Given the description of an element on the screen output the (x, y) to click on. 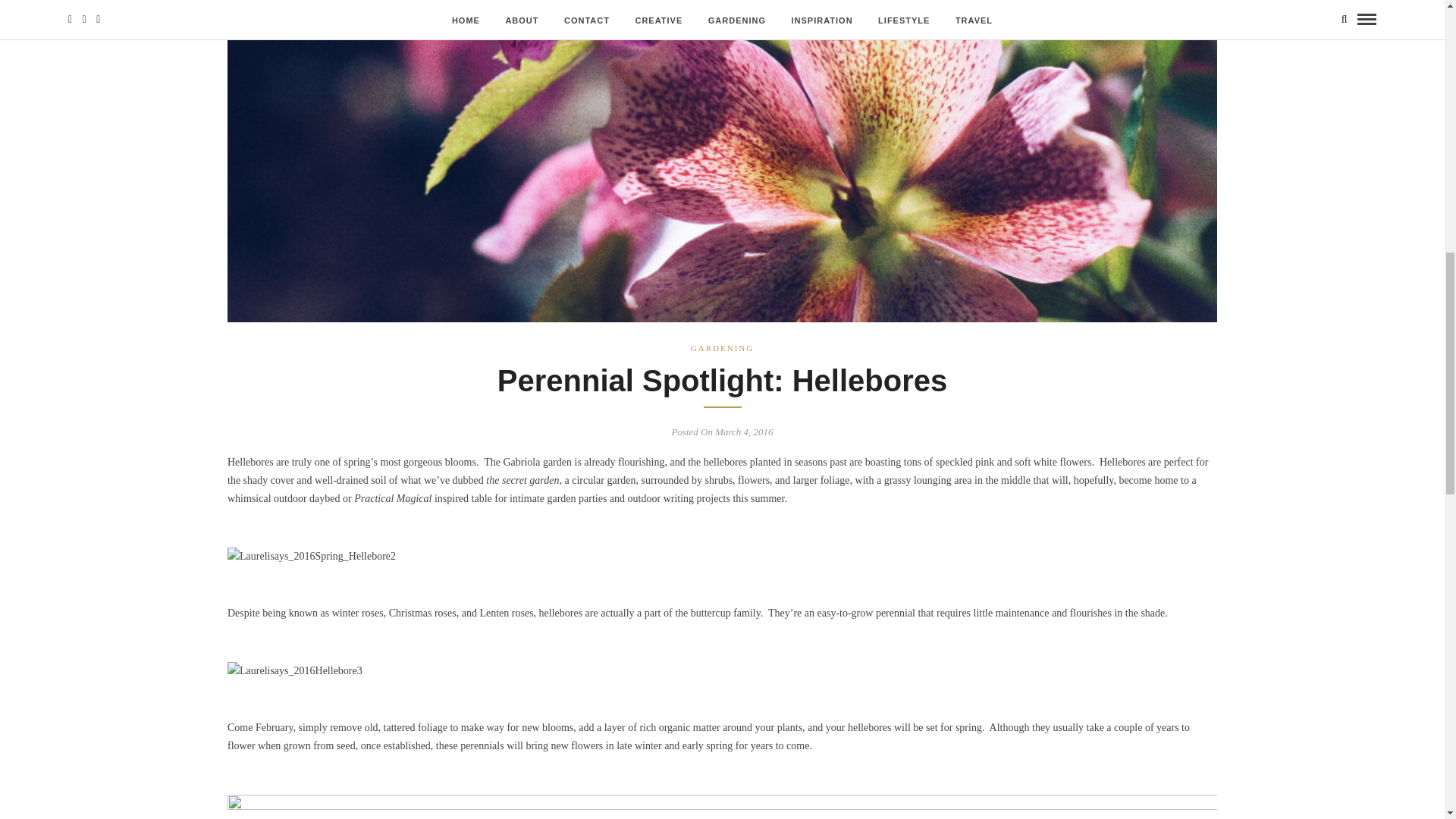
GARDENING (722, 347)
Perennial Spotlight: Hellebores (722, 380)
Perennial Spotlight: Hellebores (722, 380)
